Given the description of an element on the screen output the (x, y) to click on. 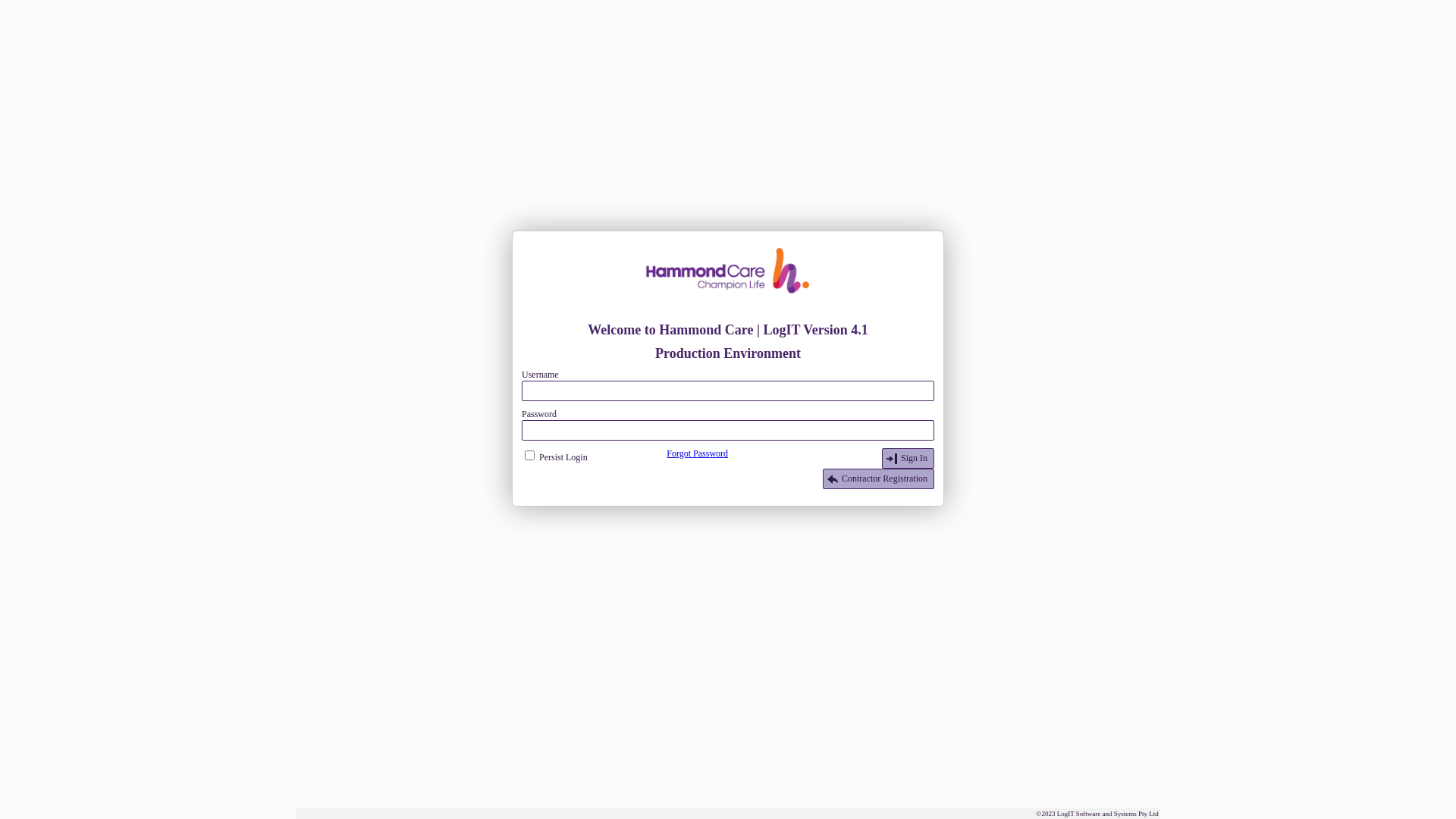
Forgot Password Element type: text (697, 453)
Sign In Element type: text (907, 458)
Contractor Registration Element type: text (878, 478)
